Given the description of an element on the screen output the (x, y) to click on. 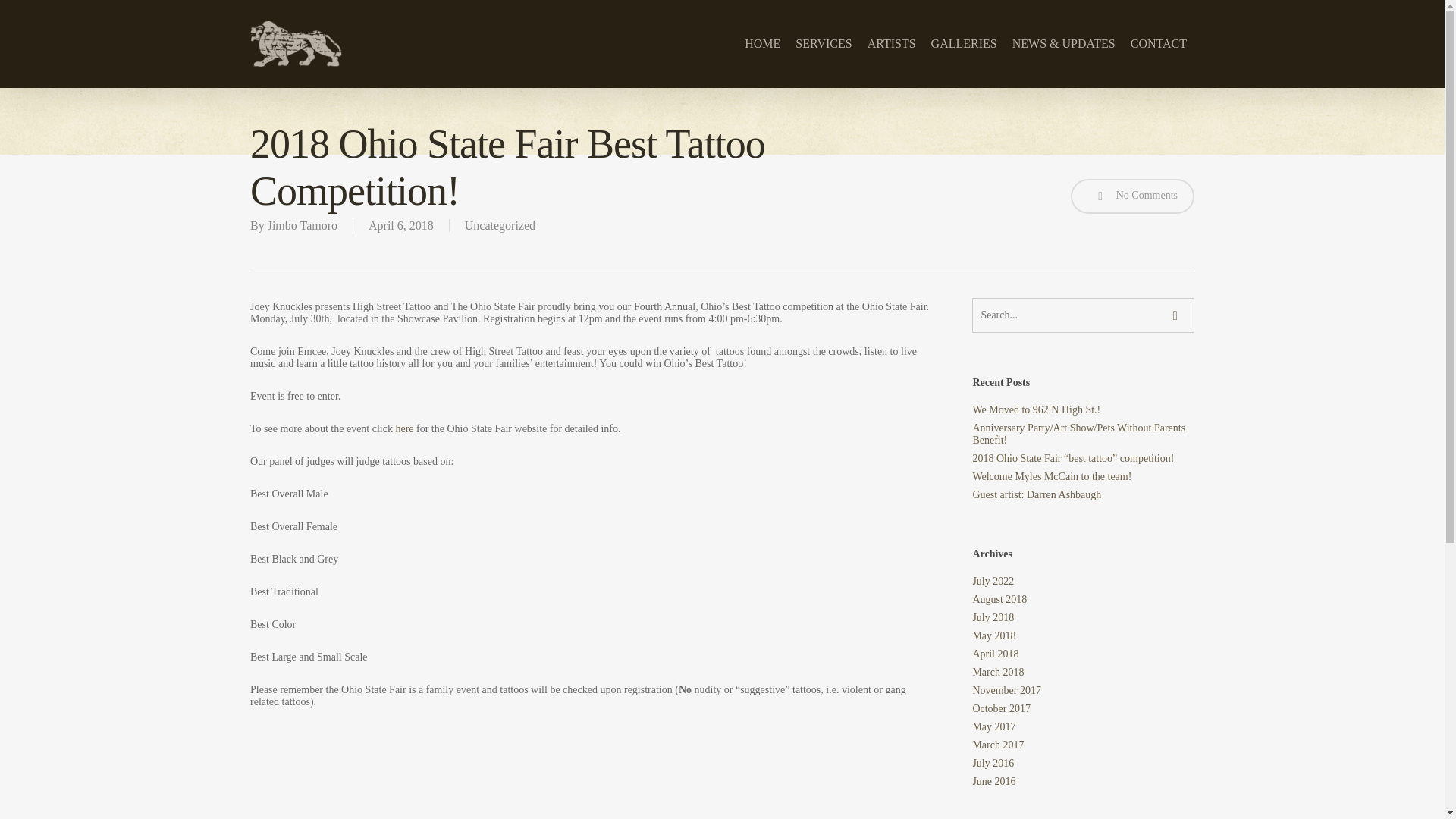
We Moved to 962 N High St.! (1082, 410)
SERVICES (823, 43)
here (403, 428)
April 2018 (1082, 654)
CONTACT (1157, 43)
Posts by Jimbo Tamoro (302, 225)
March 2017 (1082, 745)
August 2018 (1082, 599)
Uncategorized (499, 225)
Jimbo Tamoro (302, 225)
